Given the description of an element on the screen output the (x, y) to click on. 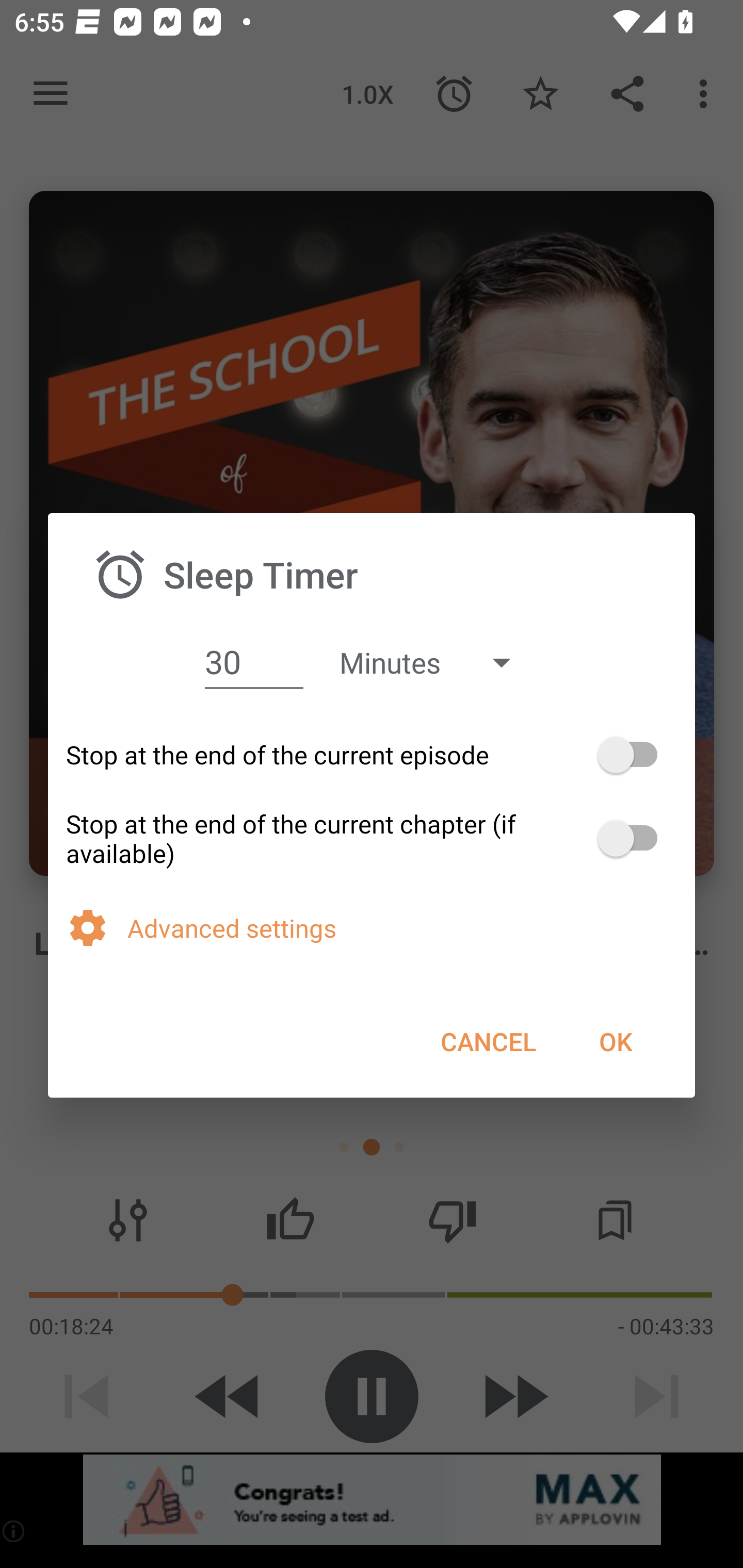
30 (253, 661)
Minutes (434, 662)
Stop at the end of the current episode (371, 754)
Advanced settings (401, 928)
CANCEL (488, 1040)
OK (615, 1040)
